Given the description of an element on the screen output the (x, y) to click on. 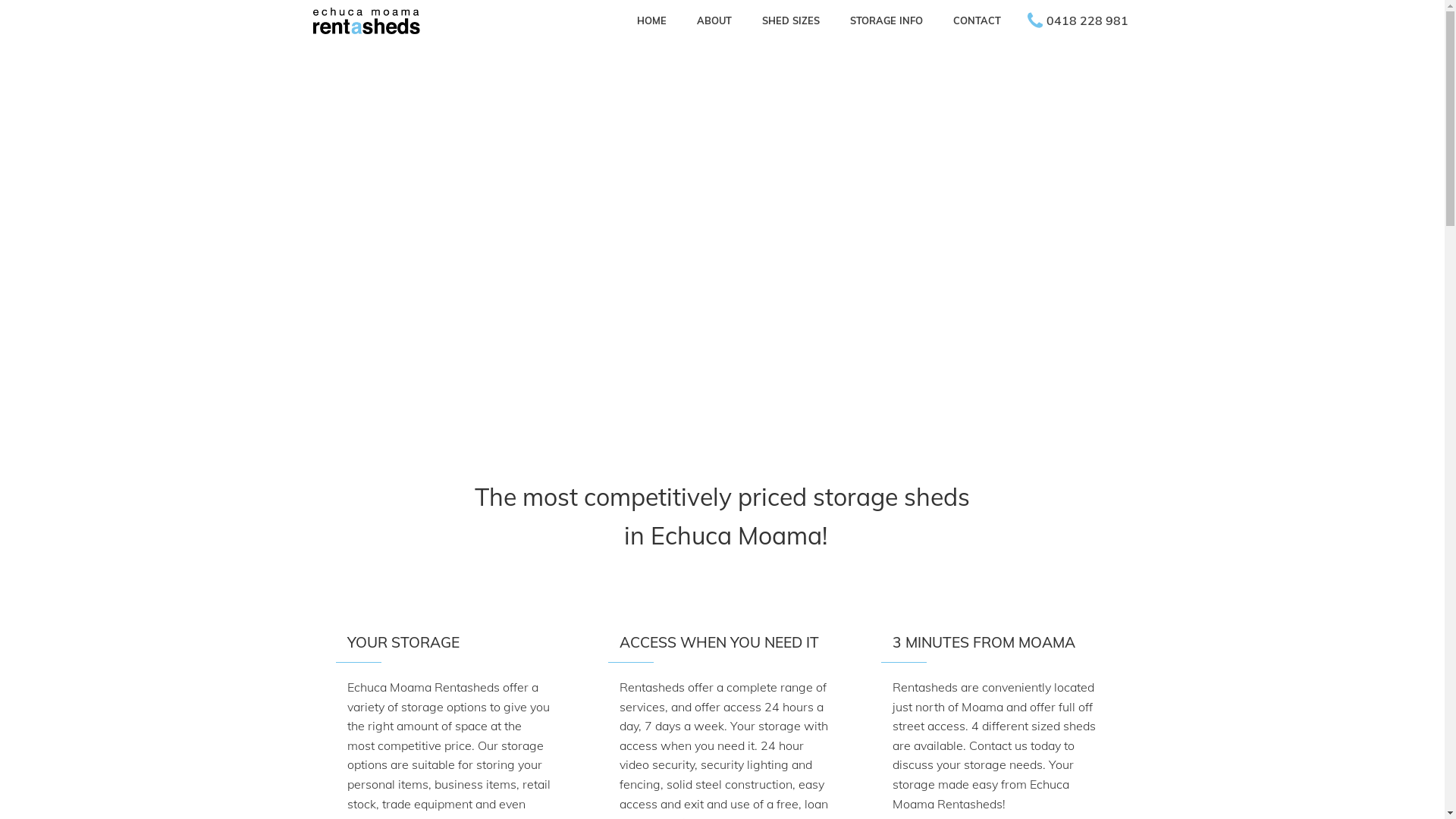
STORAGE INFO Element type: text (885, 20)
0418 228 981 Element type: text (1077, 20)
SHED SIZES Element type: text (789, 20)
CONTACT Element type: text (975, 20)
ABOUT Element type: text (713, 20)
HOME Element type: text (651, 20)
